Given the description of an element on the screen output the (x, y) to click on. 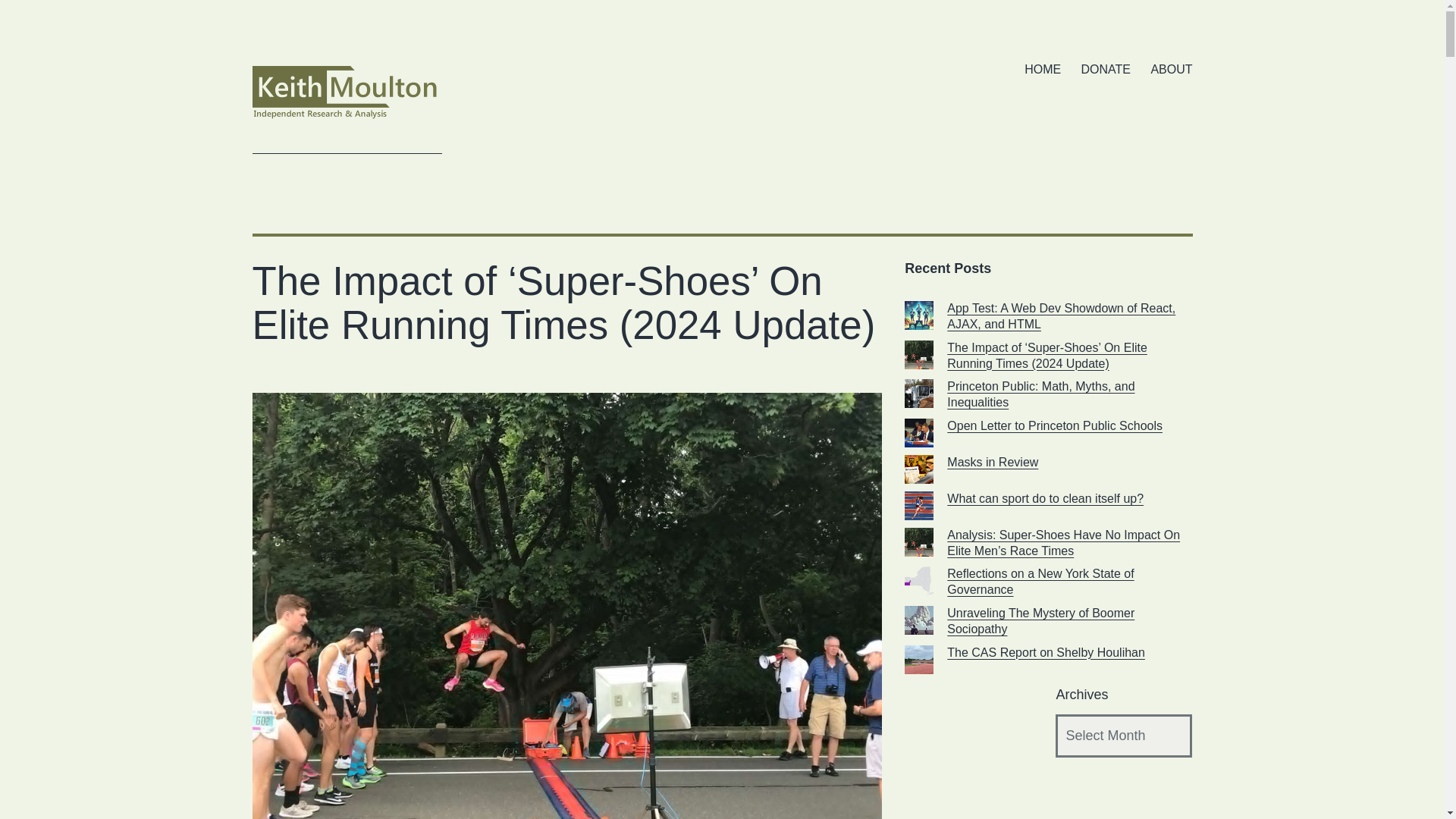
ABOUT (1171, 69)
DONATE (1105, 69)
HOME (1042, 69)
